Given the description of an element on the screen output the (x, y) to click on. 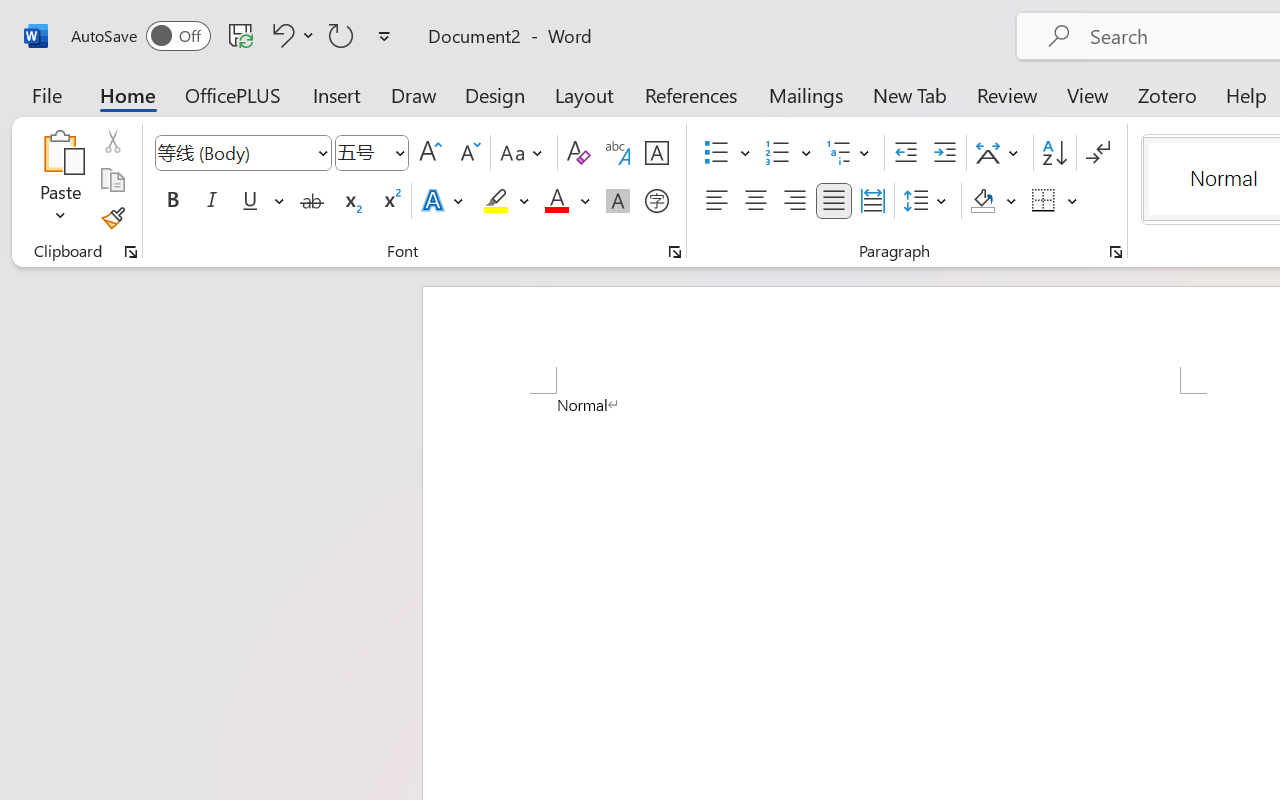
Subscript (350, 201)
Change Case (524, 153)
Shading (993, 201)
Justify (834, 201)
Multilevel List (850, 153)
Decrease Indent (906, 153)
Asian Layout (1000, 153)
Numbering (788, 153)
Open (399, 152)
Align Right (794, 201)
Font Color Red (556, 201)
Format Painter (112, 218)
Undo Apply Quick Style (290, 35)
More Options (1073, 201)
Repeat Style (341, 35)
